Given the description of an element on the screen output the (x, y) to click on. 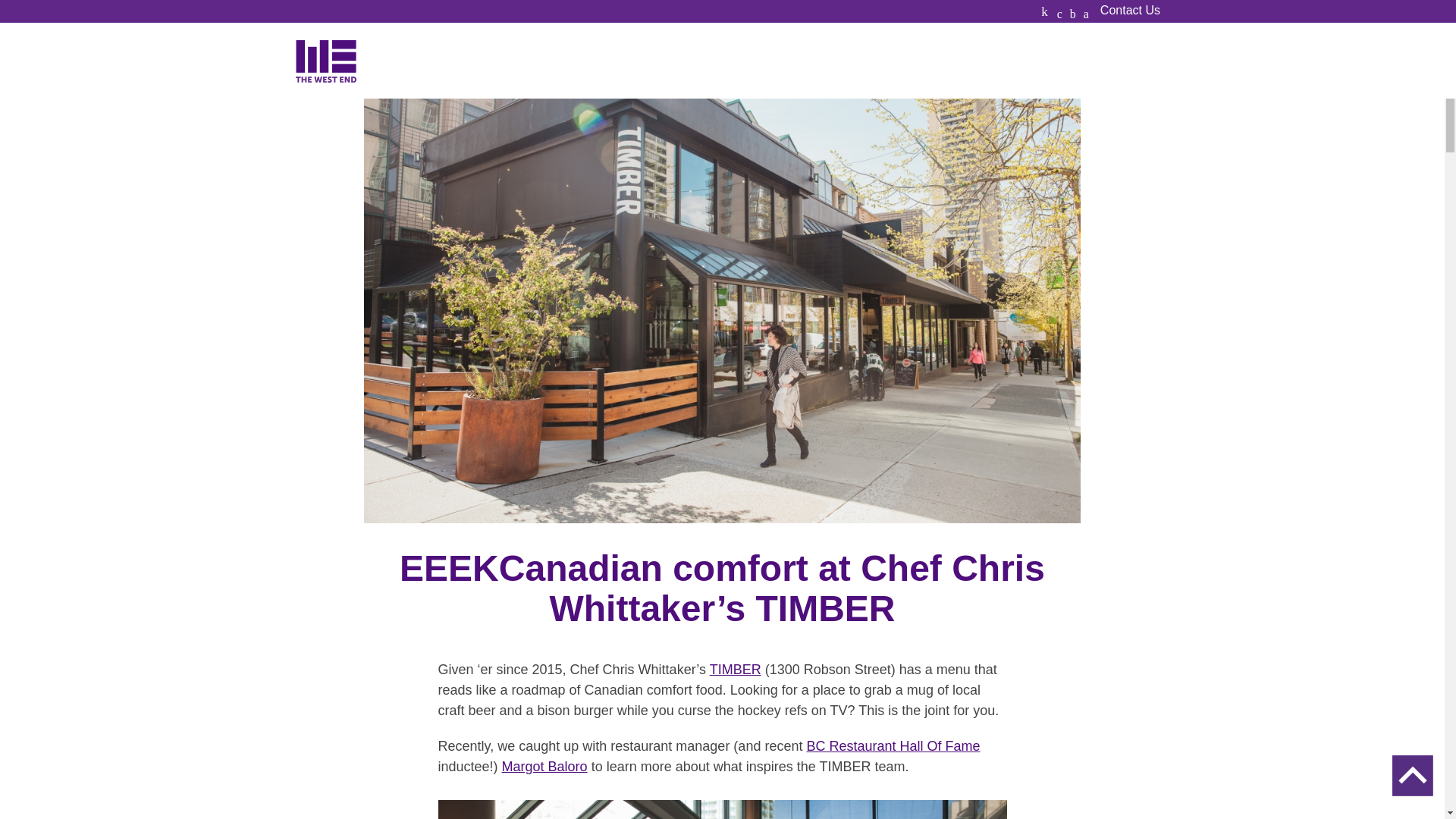
Contact Us (1130, 10)
